Given the description of an element on the screen output the (x, y) to click on. 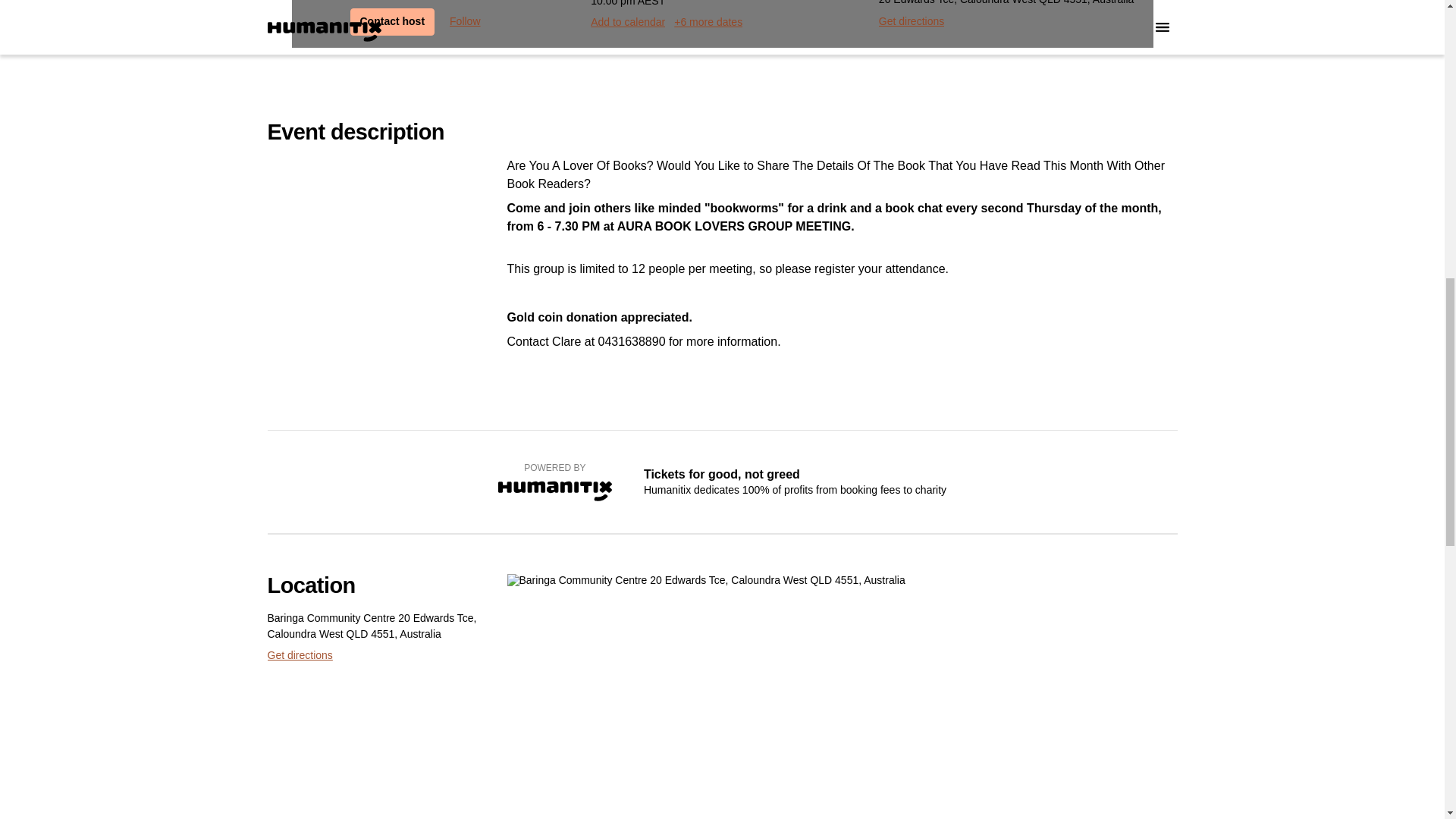
Add to calendar (628, 22)
Follow (465, 22)
Get directions (911, 21)
Get directions (298, 655)
